Given the description of an element on the screen output the (x, y) to click on. 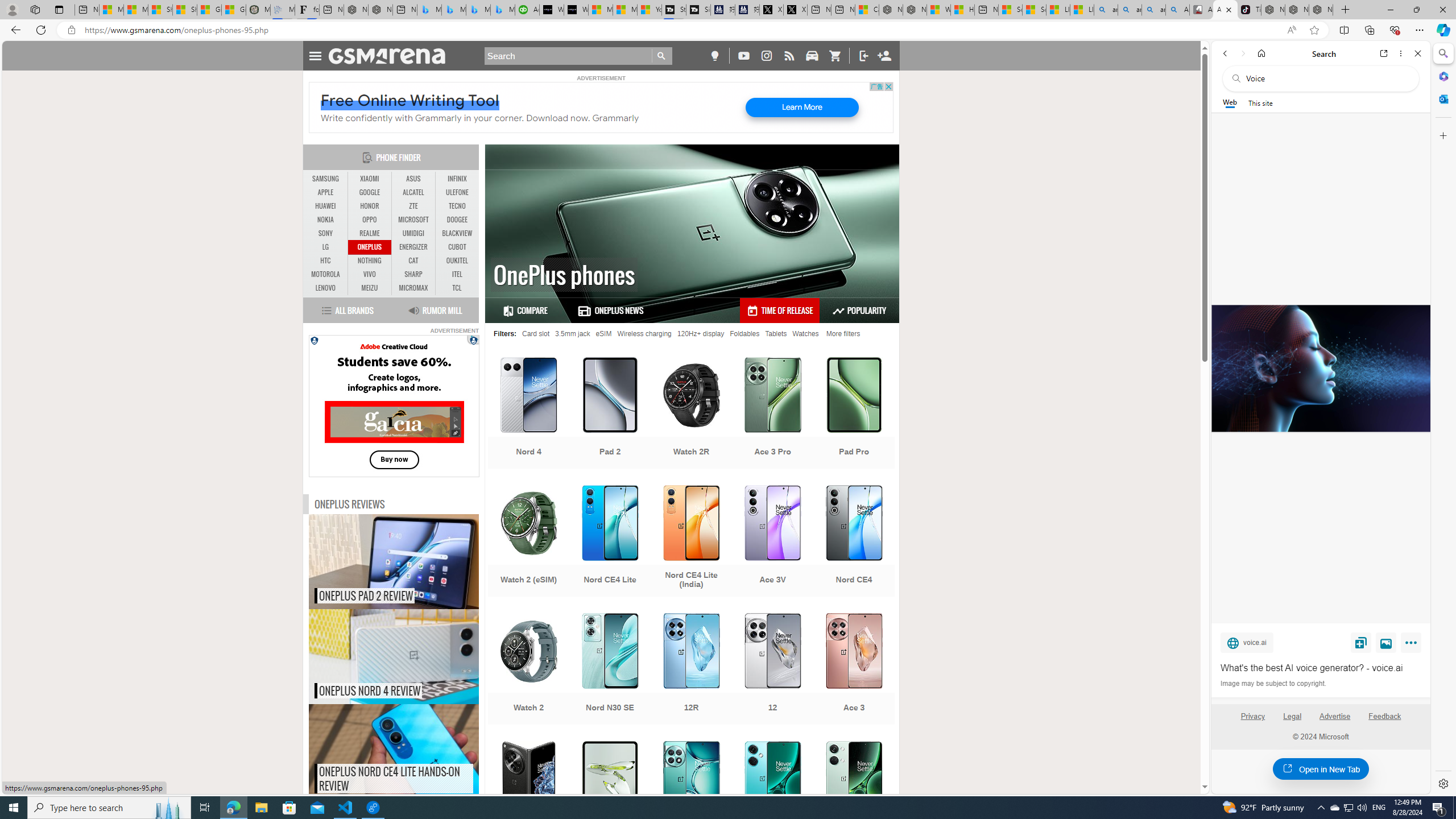
OPPO (369, 219)
Streaming Coverage | T3 (673, 9)
Settings (1442, 783)
Watches (805, 333)
amazon - Search Images (1153, 9)
